Given the description of an element on the screen output the (x, y) to click on. 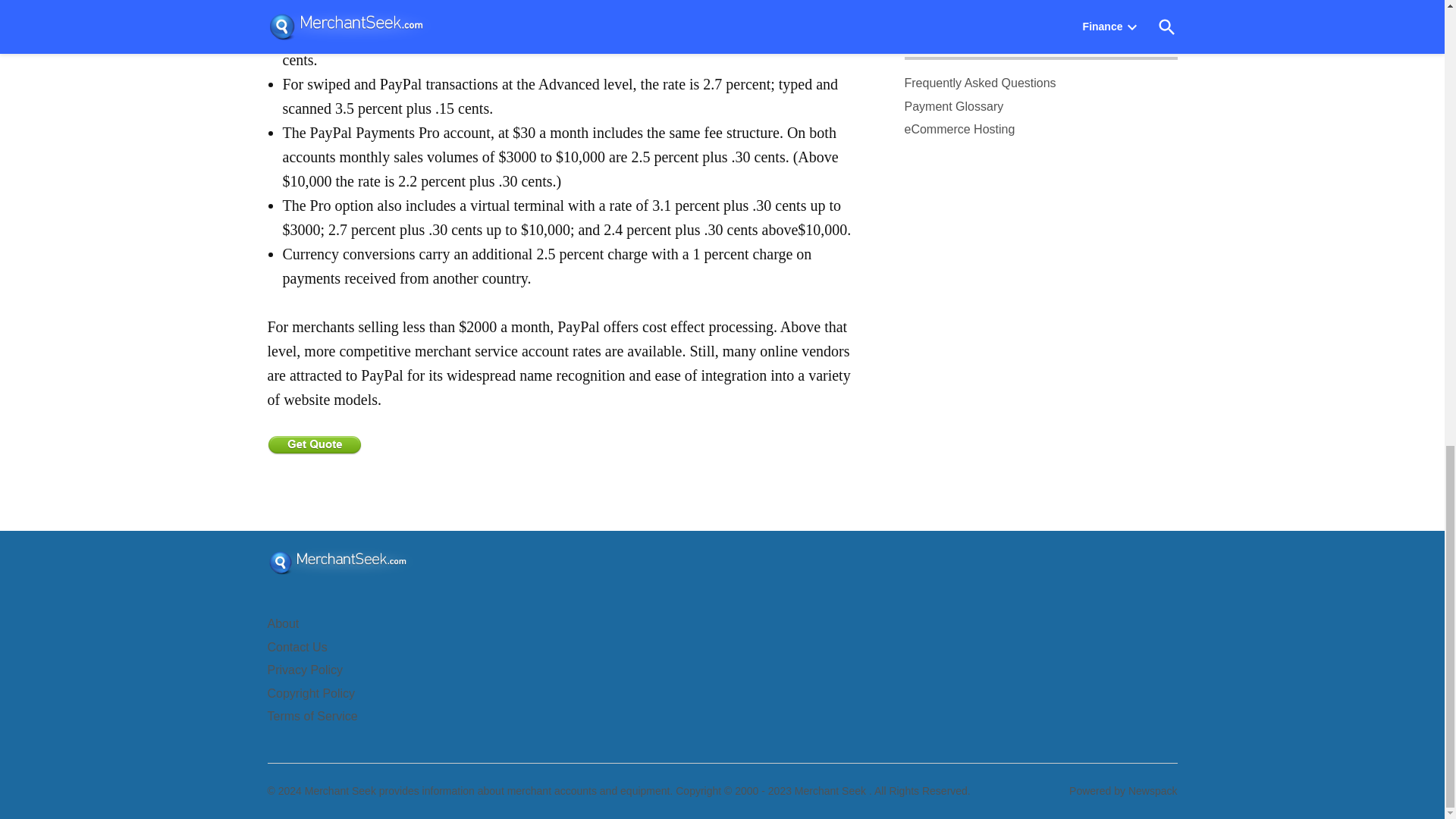
getquote (313, 445)
